Given the description of an element on the screen output the (x, y) to click on. 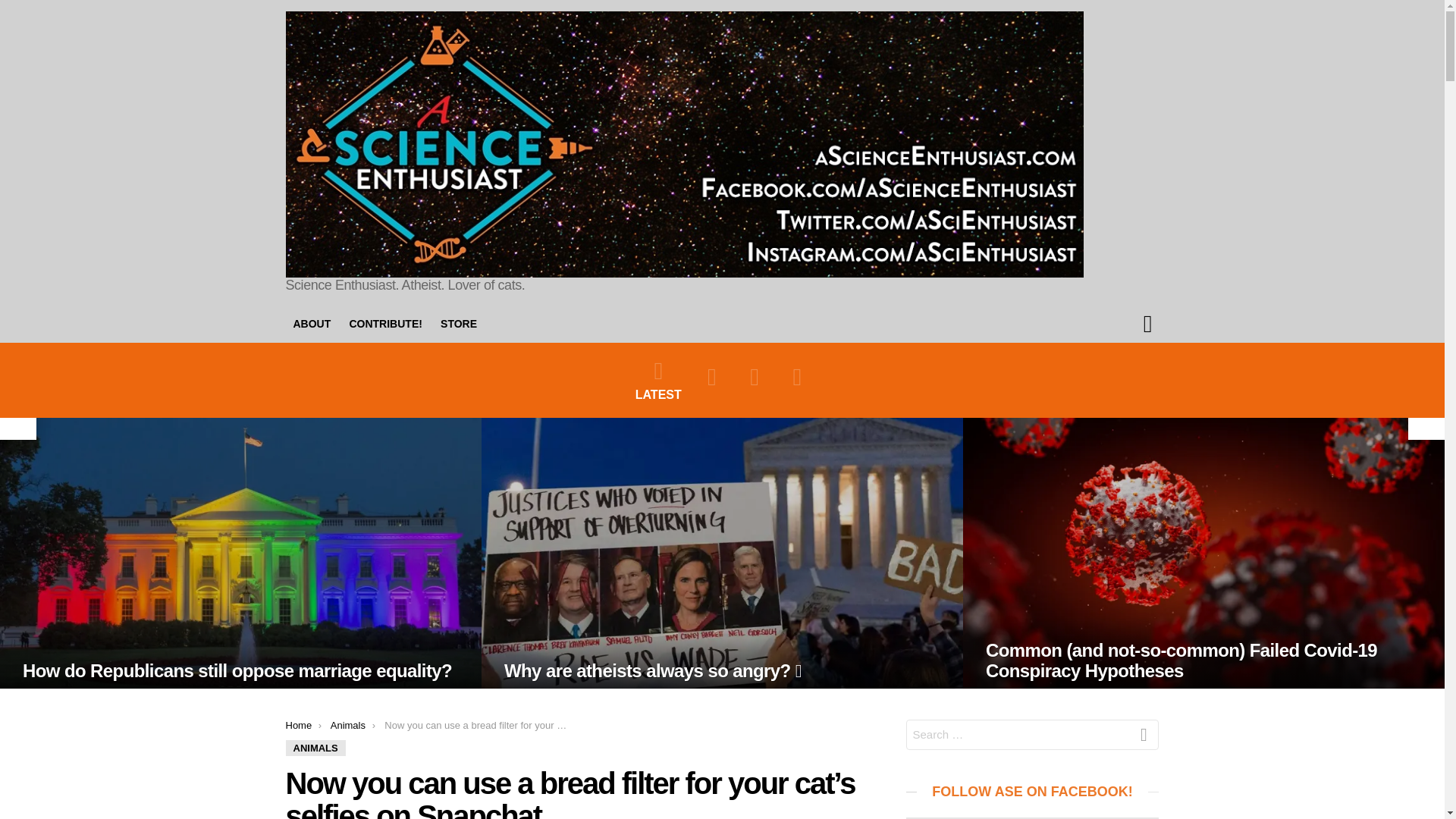
LATEST (657, 379)
Search for: (1031, 734)
Home (298, 724)
CONTRIBUTE! (384, 323)
STORE (458, 323)
ABOUT (311, 323)
Animals (347, 724)
How do Republicans still oppose marriage equality? (237, 670)
ANIMALS (315, 747)
